Given the description of an element on the screen output the (x, y) to click on. 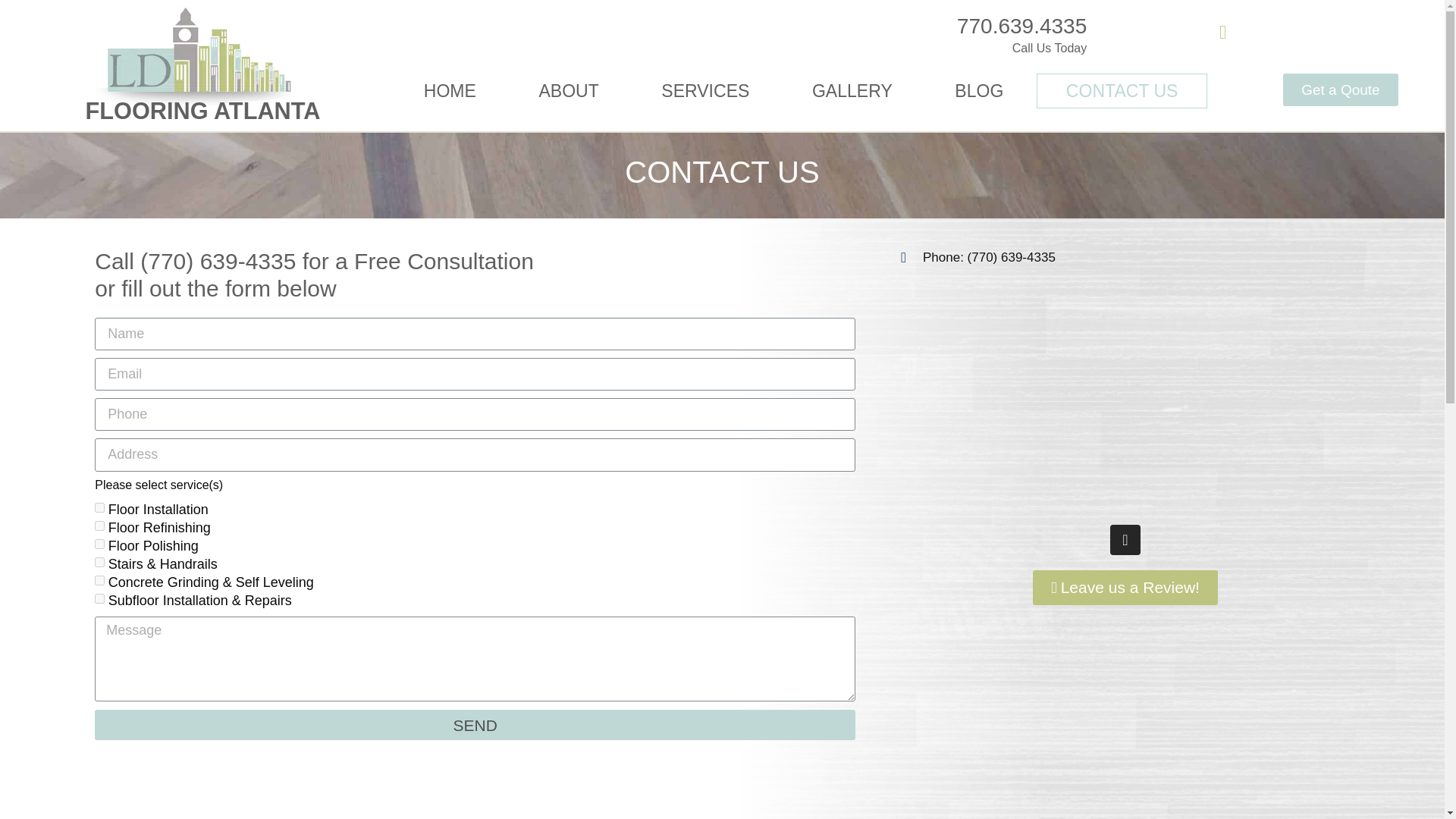
GALLERY (852, 90)
770.639.4335 (1021, 25)
SERVICES (704, 90)
Floor Installation (99, 507)
BLOG (979, 90)
Get a Qoute (1339, 89)
CONTACT US (1121, 90)
 Valley Brook Drive Atlanta GA 30342 (1125, 395)
HOME (449, 90)
ABOUT (568, 90)
Floor Refinishing (99, 525)
Floor Polishing (99, 543)
